Given the description of an element on the screen output the (x, y) to click on. 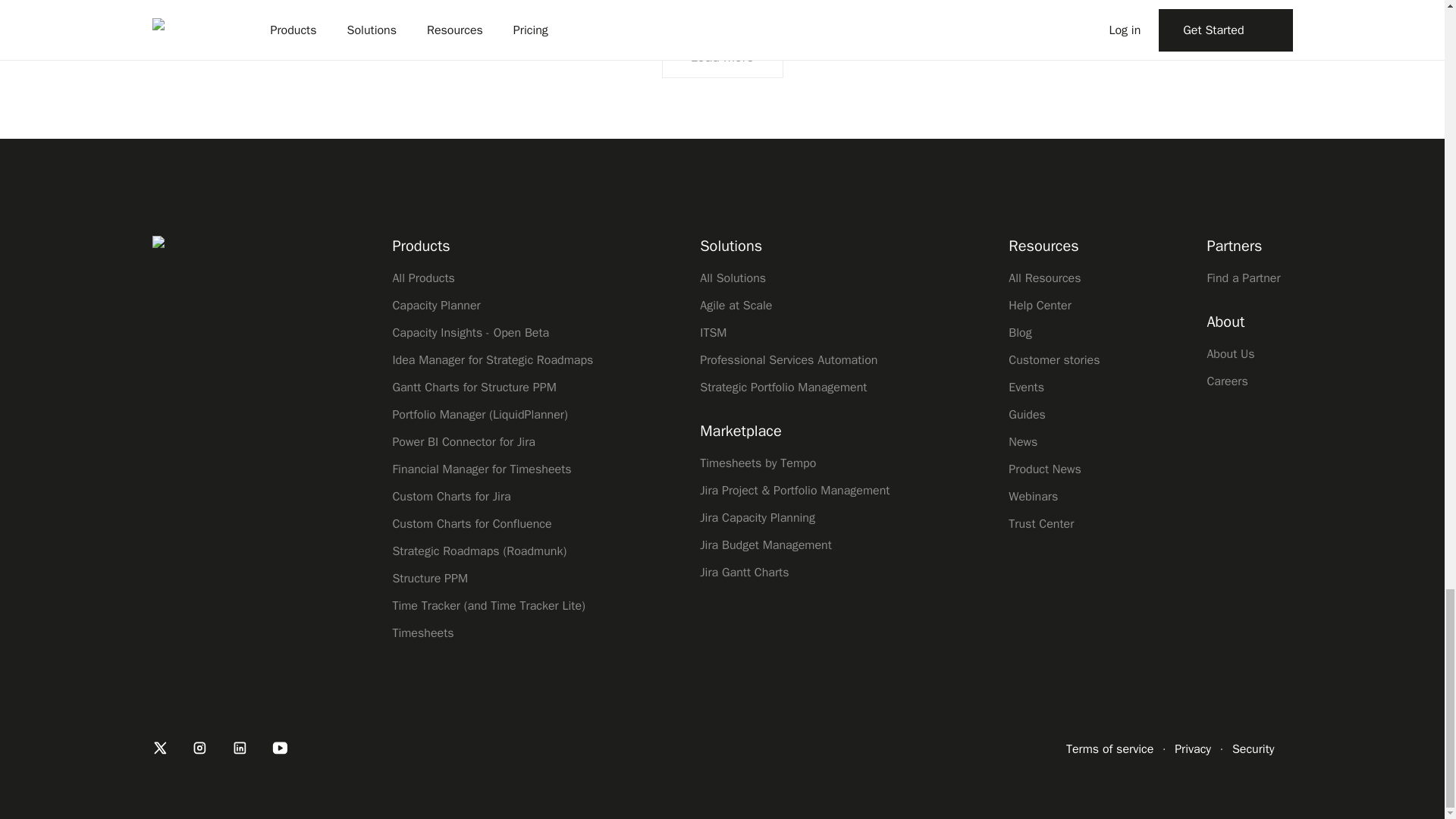
Capacity Planner (491, 305)
Capacity Insights - Open Beta (491, 332)
Load more (722, 56)
All Products (491, 278)
